Given the description of an element on the screen output the (x, y) to click on. 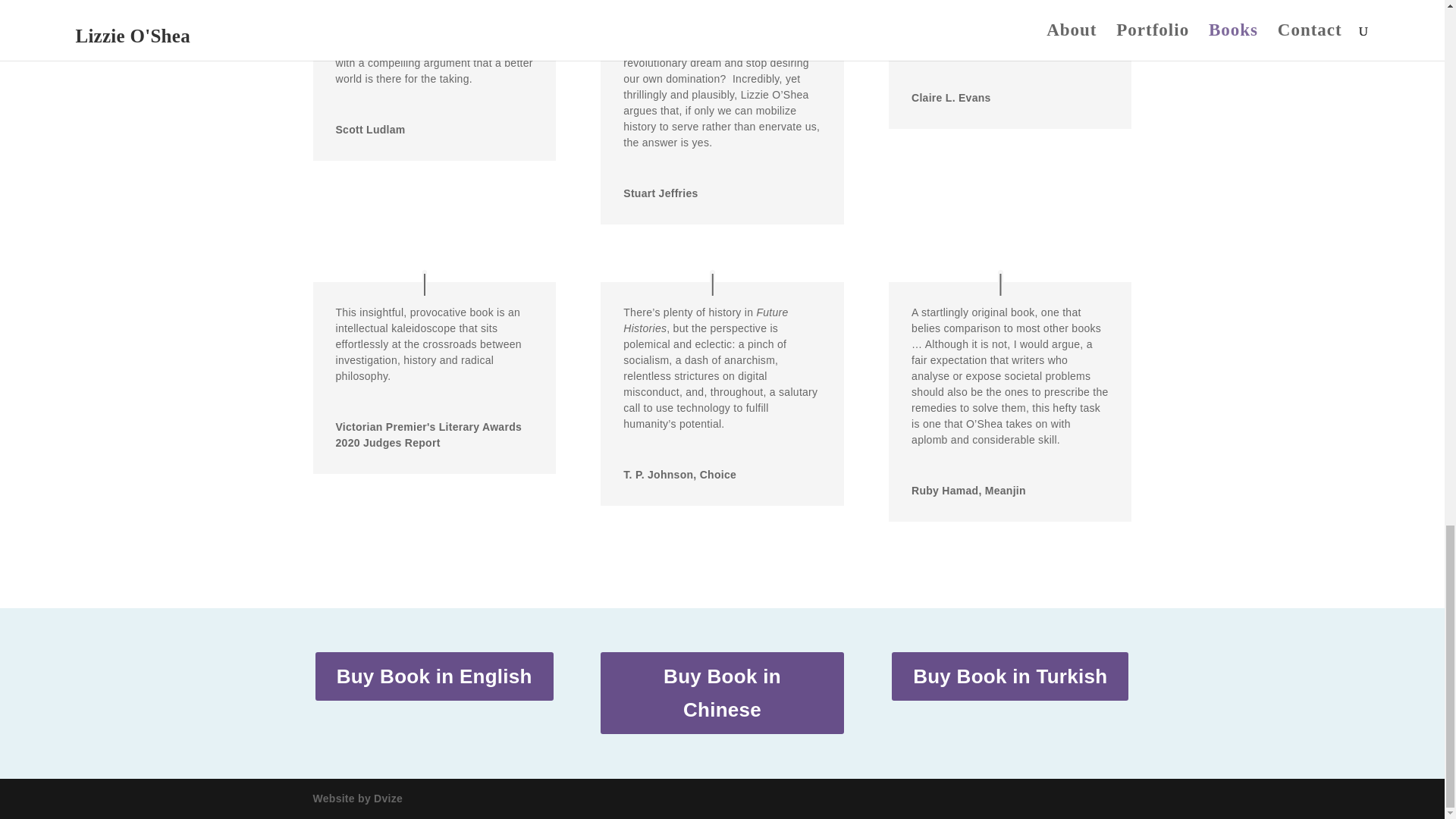
Buy Book in Turkish (1009, 676)
Buy Book in English (434, 676)
Buy Book in Chinese (721, 692)
Website by Dvize (358, 798)
